Given the description of an element on the screen output the (x, y) to click on. 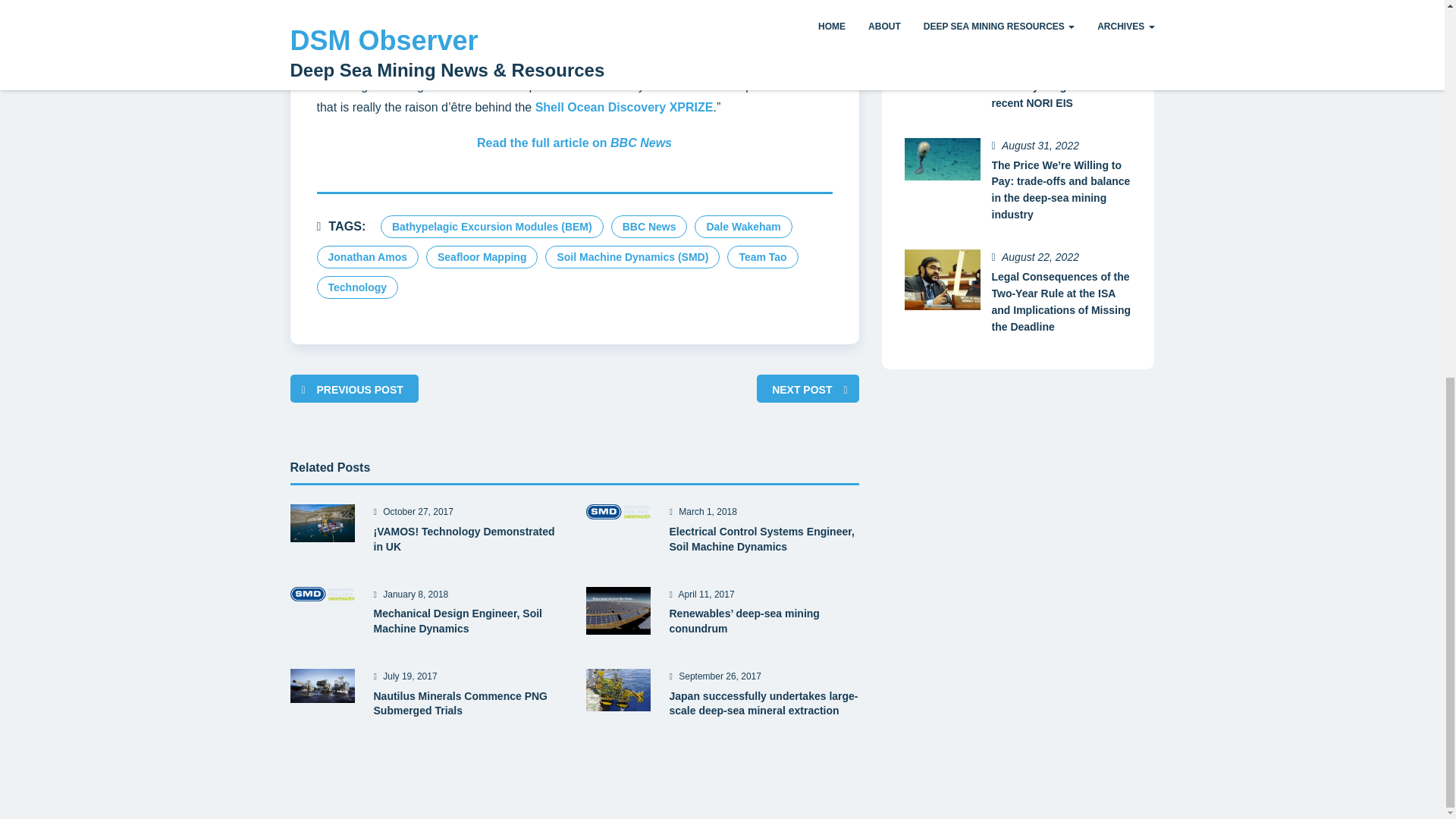
Mechanical Design Engineer, Soil Machine Dynamics (467, 621)
PREVIOUS POST (360, 389)
Dale Wakeham (743, 226)
BBC News (649, 226)
Jonathan Amos (368, 256)
Technology (357, 287)
NEXT POST (801, 389)
Electrical Control Systems Engineer, Soil Machine Dynamics (763, 539)
Read the full article on BBC News (574, 142)
Team Tao (761, 256)
